Given the description of an element on the screen output the (x, y) to click on. 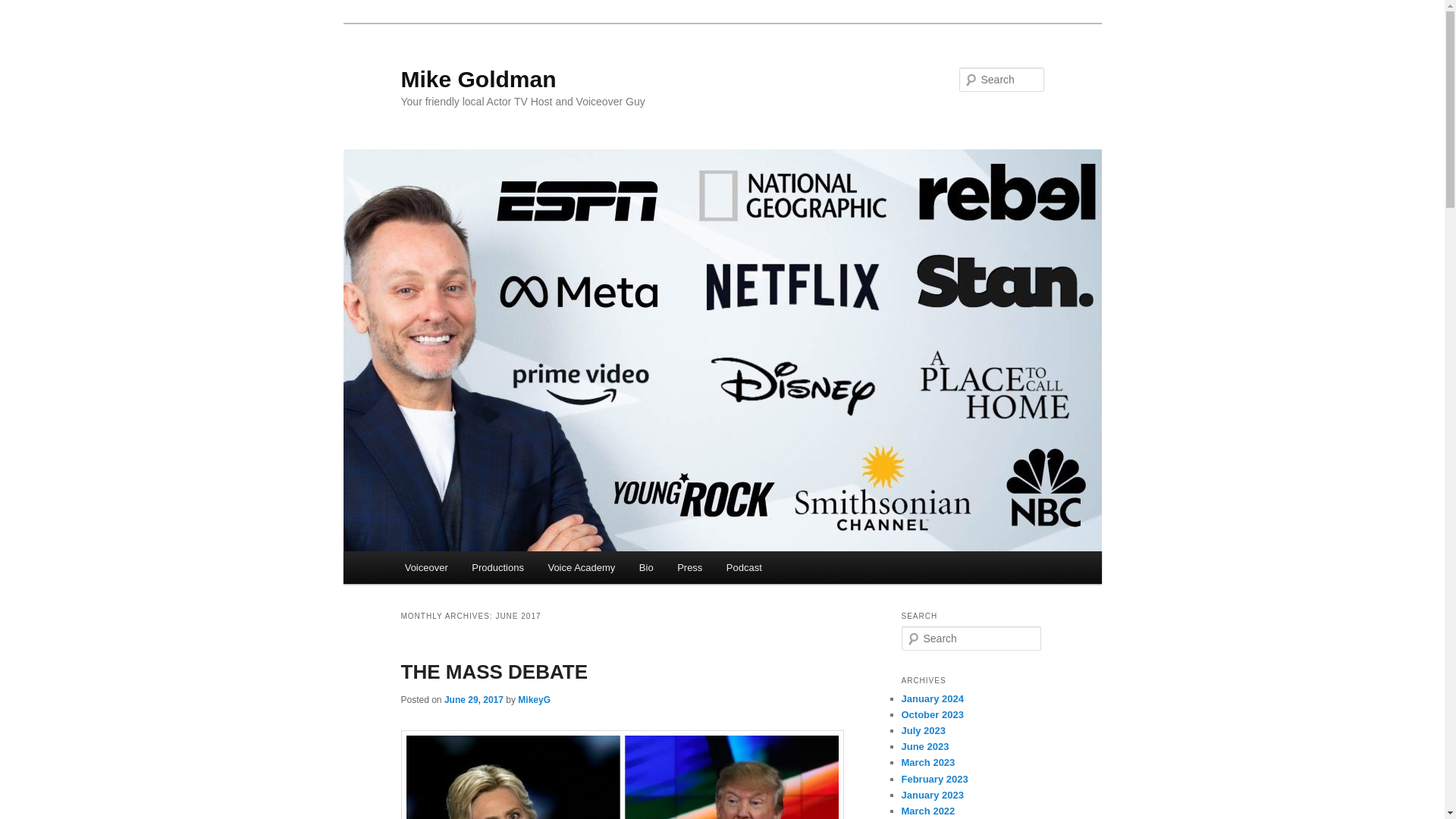
Bio (646, 567)
Podcast (743, 567)
Productions (497, 567)
THE MASS DEBATE (494, 671)
9:06 pm (473, 699)
Search (24, 8)
Voiceover (426, 567)
View all posts by MikeyG (534, 699)
June 29, 2017 (473, 699)
Voice Academy (581, 567)
Mike Goldman (478, 78)
Press (689, 567)
MikeyG (534, 699)
